Given the description of an element on the screen output the (x, y) to click on. 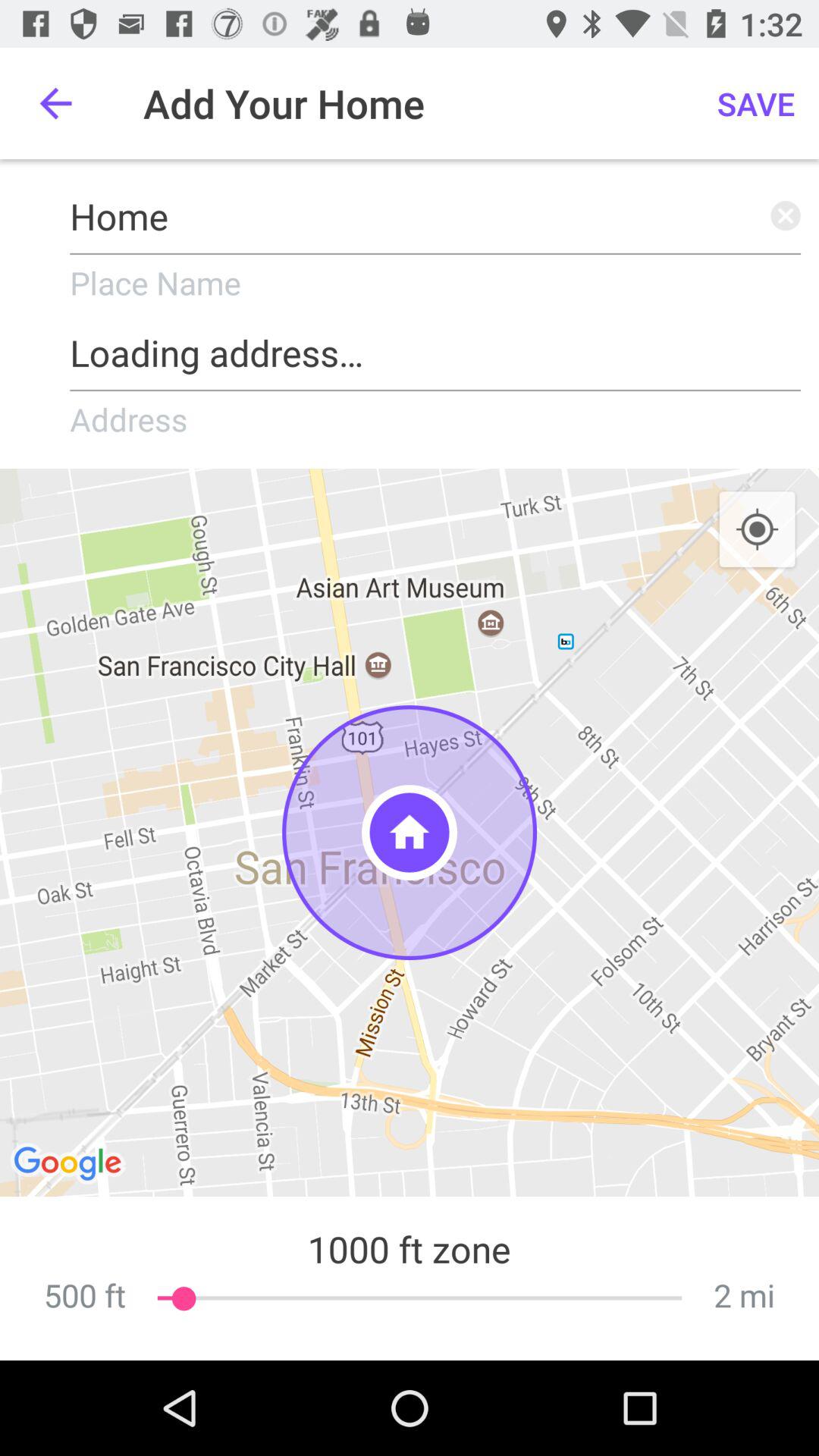
tap the icon below the address item (409, 832)
